Given the description of an element on the screen output the (x, y) to click on. 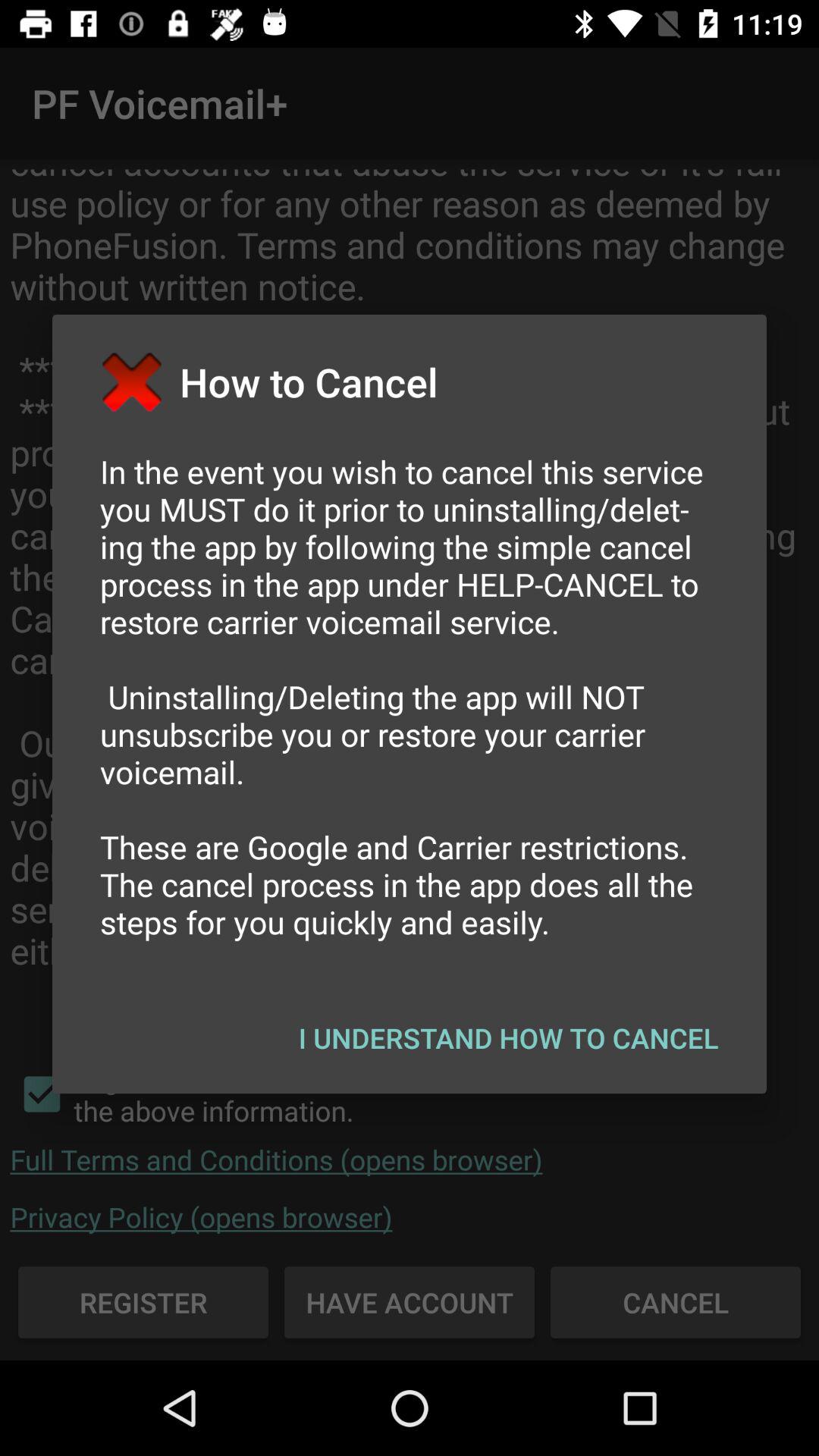
turn on the app below the in the event (508, 1037)
